Given the description of an element on the screen output the (x, y) to click on. 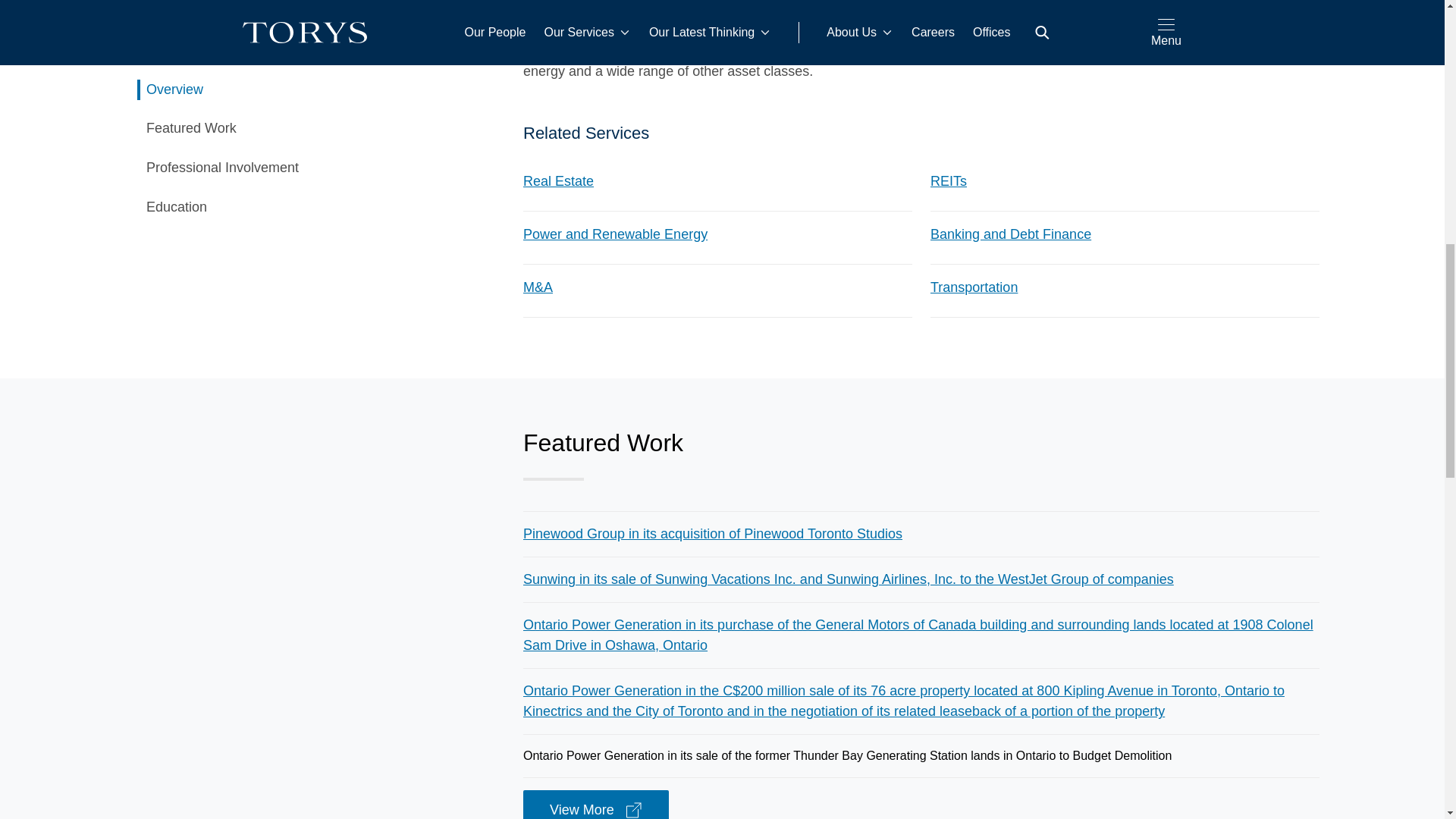
Power and Renewable Energy (614, 234)
REITs (948, 181)
Real Estate (558, 181)
Professional Involvement (307, 21)
View More (595, 804)
Transportation (973, 287)
Education (307, 61)
Banking and Debt Finance (1010, 234)
